Given the description of an element on the screen output the (x, y) to click on. 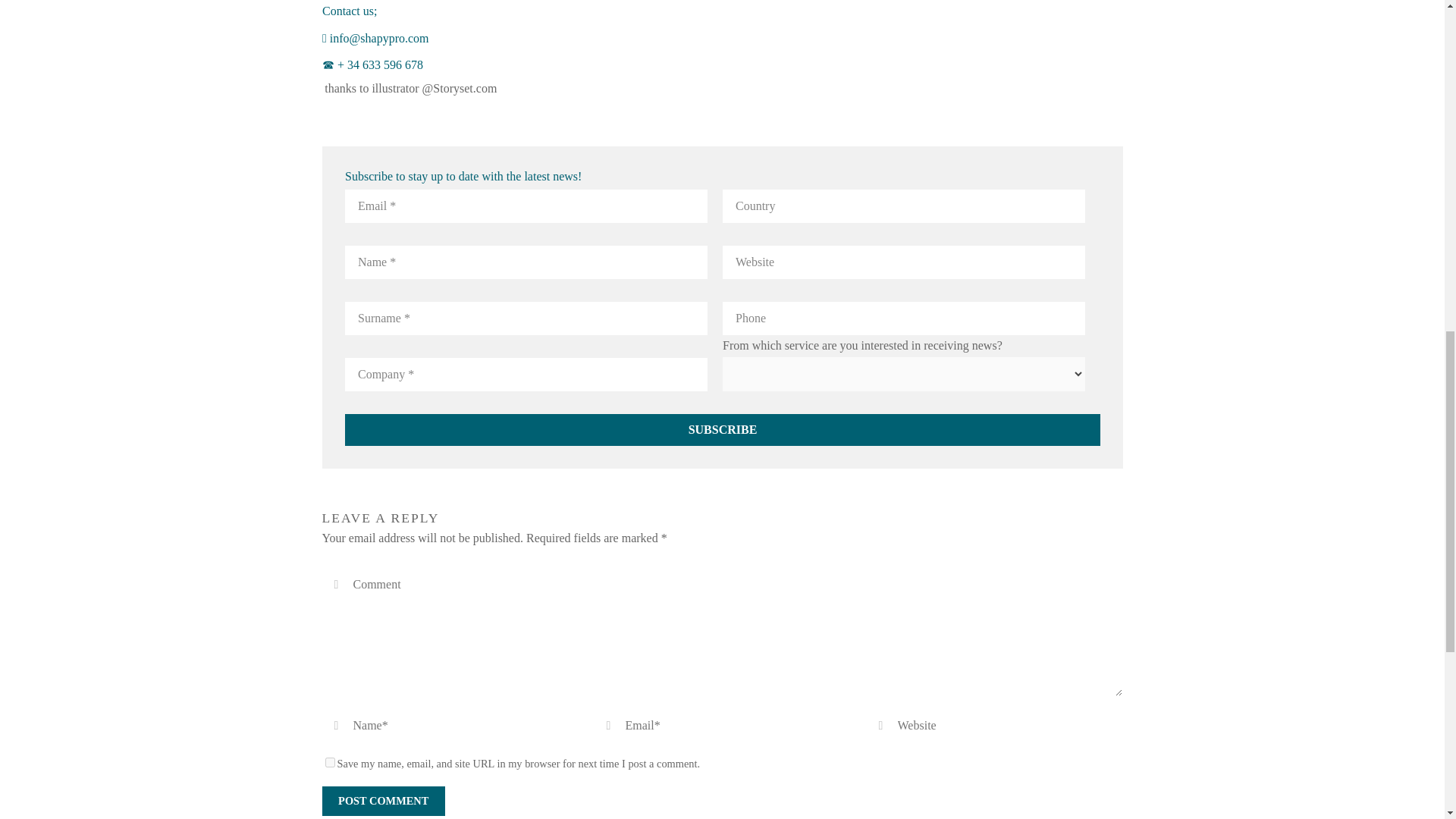
yes (329, 762)
Subscribe (721, 429)
Post Comment (382, 800)
